Given the description of an element on the screen output the (x, y) to click on. 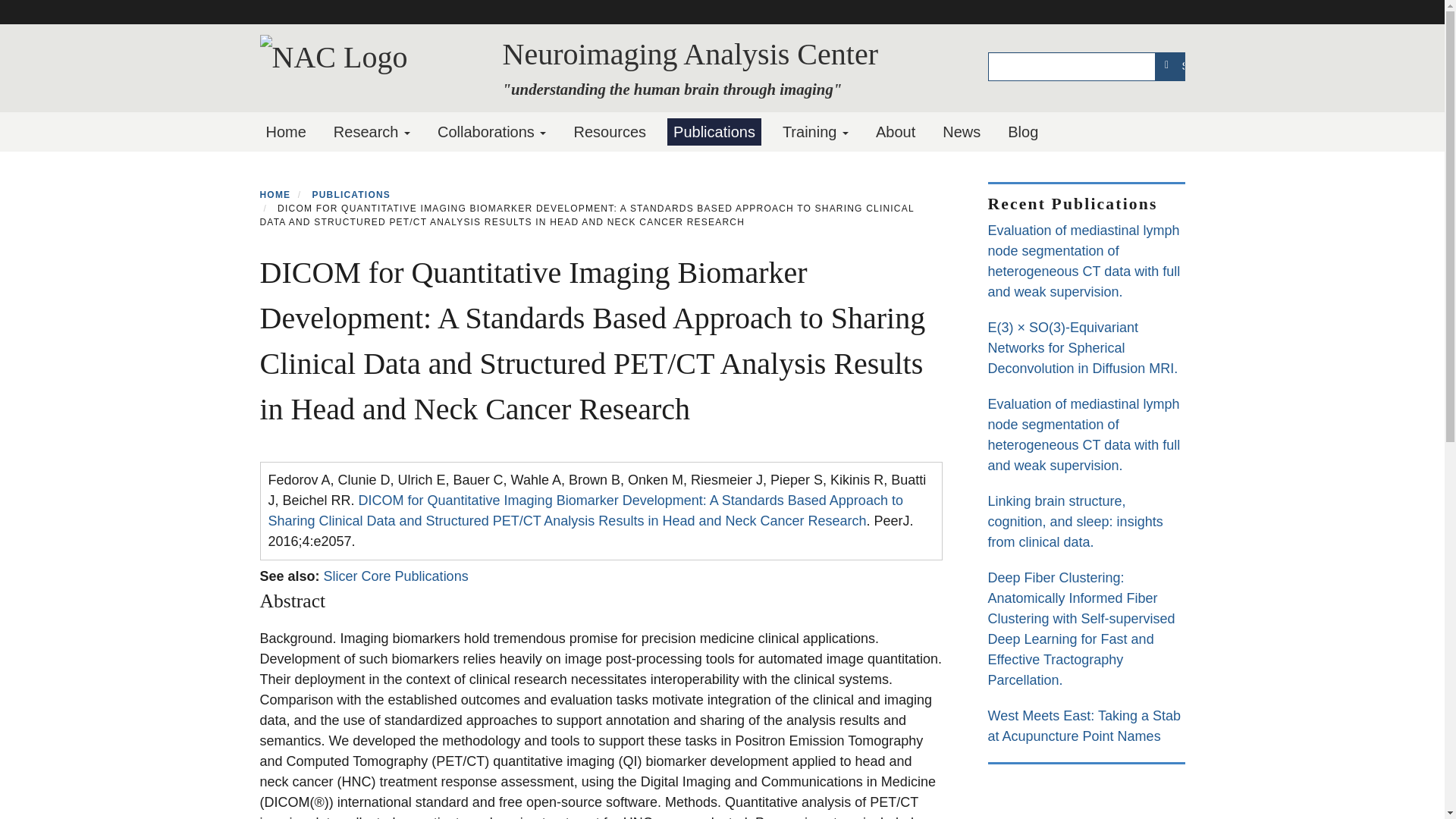
Home (285, 131)
Collaborations (490, 131)
Research (371, 131)
Blog (1022, 131)
News (961, 131)
About (895, 131)
Slicer Core Publications (395, 575)
